Given the description of an element on the screen output the (x, y) to click on. 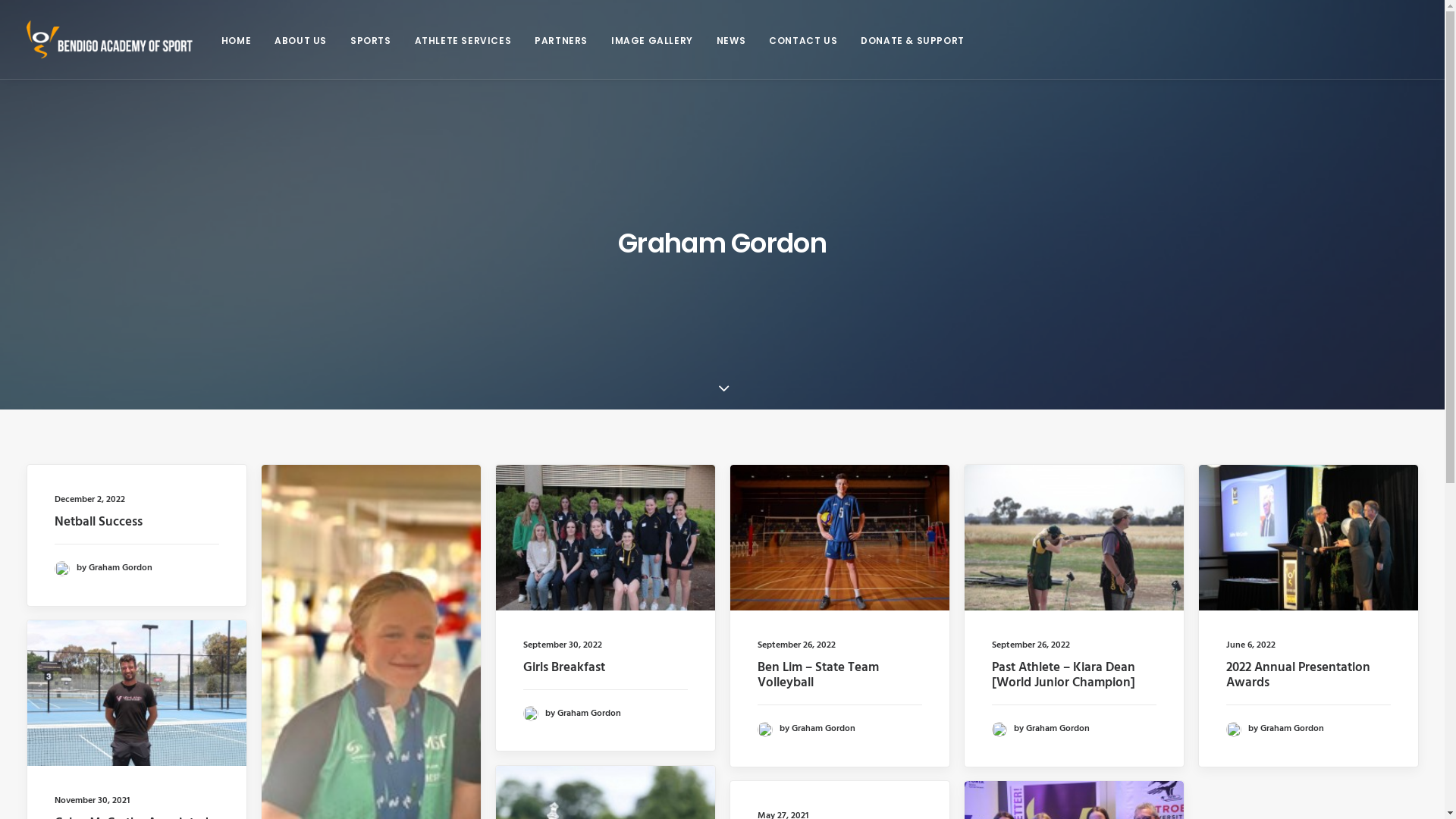
DONATE & SUPPORT Element type: text (907, 39)
by Graham Gordon Element type: text (1274, 728)
Girls Breakfast Element type: text (564, 667)
IMAGE GALLERY Element type: text (651, 39)
by Graham Gordon Element type: text (805, 728)
by Graham Gordon Element type: text (1040, 728)
HOME Element type: text (241, 39)
SPORTS Element type: text (370, 39)
Netball Success Element type: text (98, 521)
ABOUT US Element type: text (300, 39)
by Graham Gordon Element type: text (572, 713)
CONTACT US Element type: text (802, 39)
ATHLETE SERVICES Element type: text (463, 39)
2022 Annual Presentation Awards Element type: text (1297, 675)
PARTNERS Element type: text (561, 39)
NEWS Element type: text (731, 39)
by Graham Gordon Element type: text (103, 567)
